Given the description of an element on the screen output the (x, y) to click on. 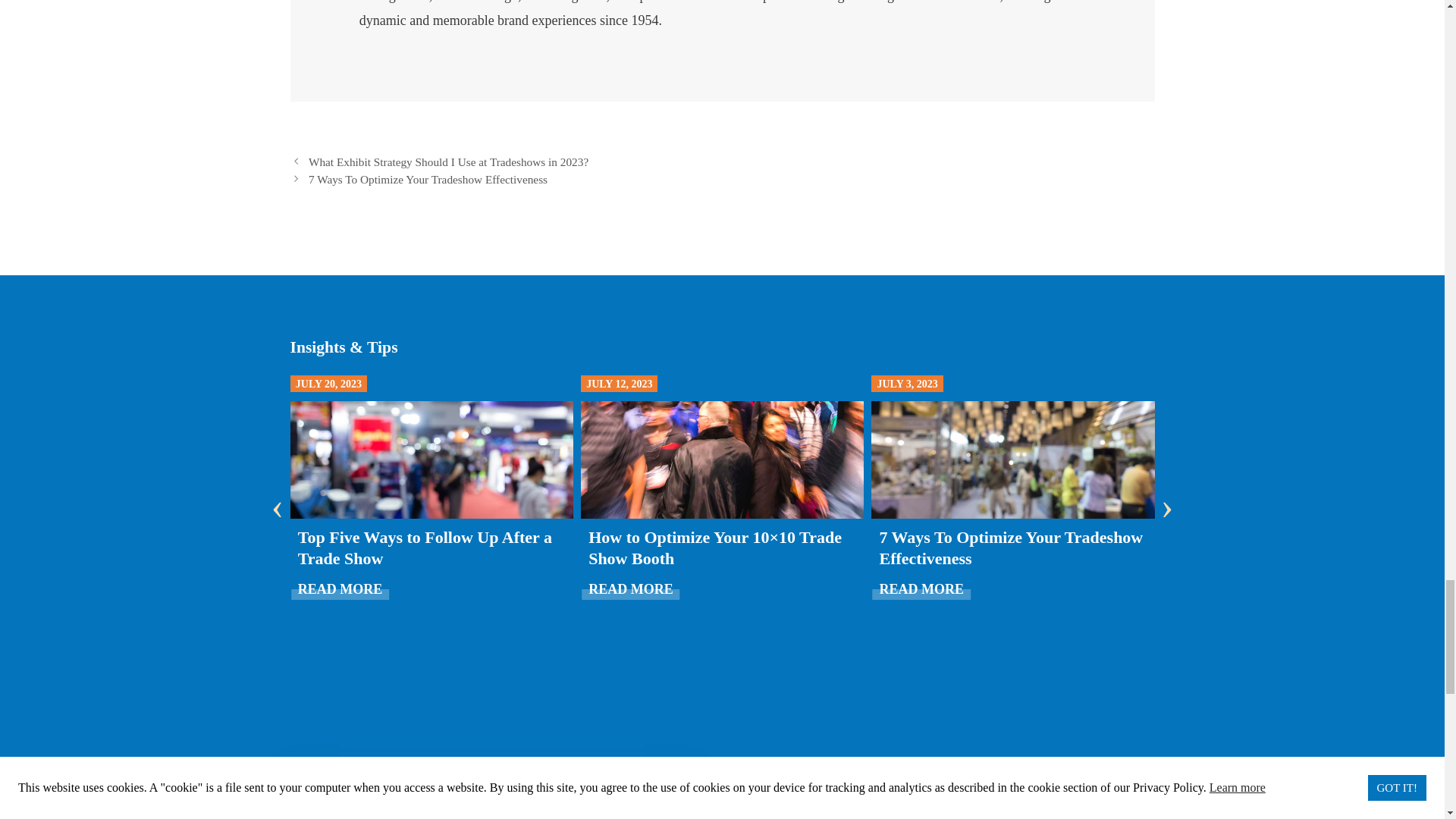
Top Five Ways to Follow Up After a Trade Show (424, 547)
7 Ways To Optimize Your Tradeshow Effectiveness (1010, 547)
